Given the description of an element on the screen output the (x, y) to click on. 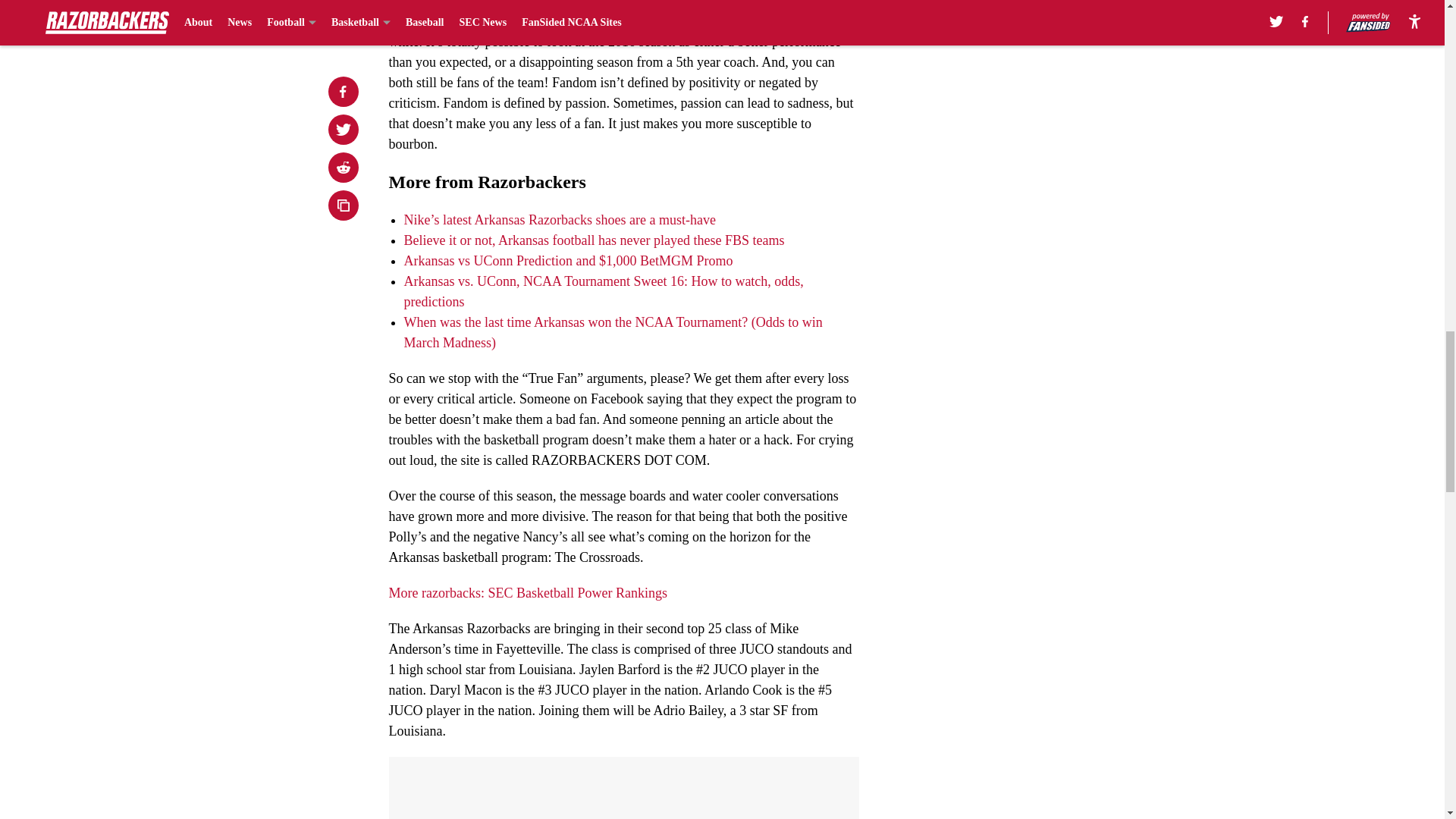
More razorbacks: SEC Basketball Power Rankings (527, 592)
